Given the description of an element on the screen output the (x, y) to click on. 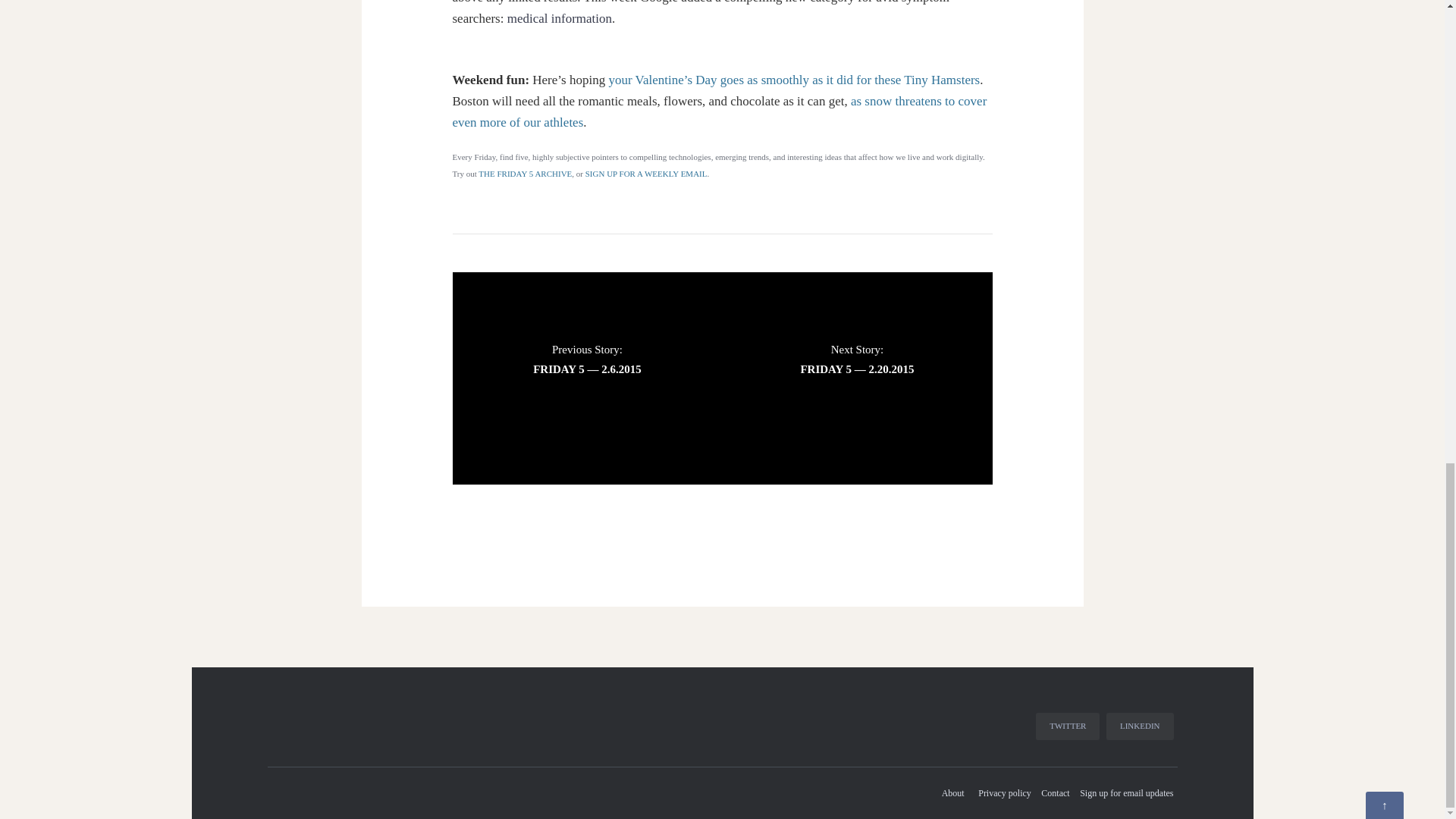
as snow threatens to cover even more of our athletes (719, 111)
Twitter (1067, 726)
Sign up for email updates (1125, 792)
 medical information (557, 18)
Contact (1054, 792)
TWITTER (1067, 726)
Privacy policy (1004, 792)
LinkedIn (1139, 726)
THE FRIDAY 5 ARCHIVE (525, 173)
About (957, 792)
